Given the description of an element on the screen output the (x, y) to click on. 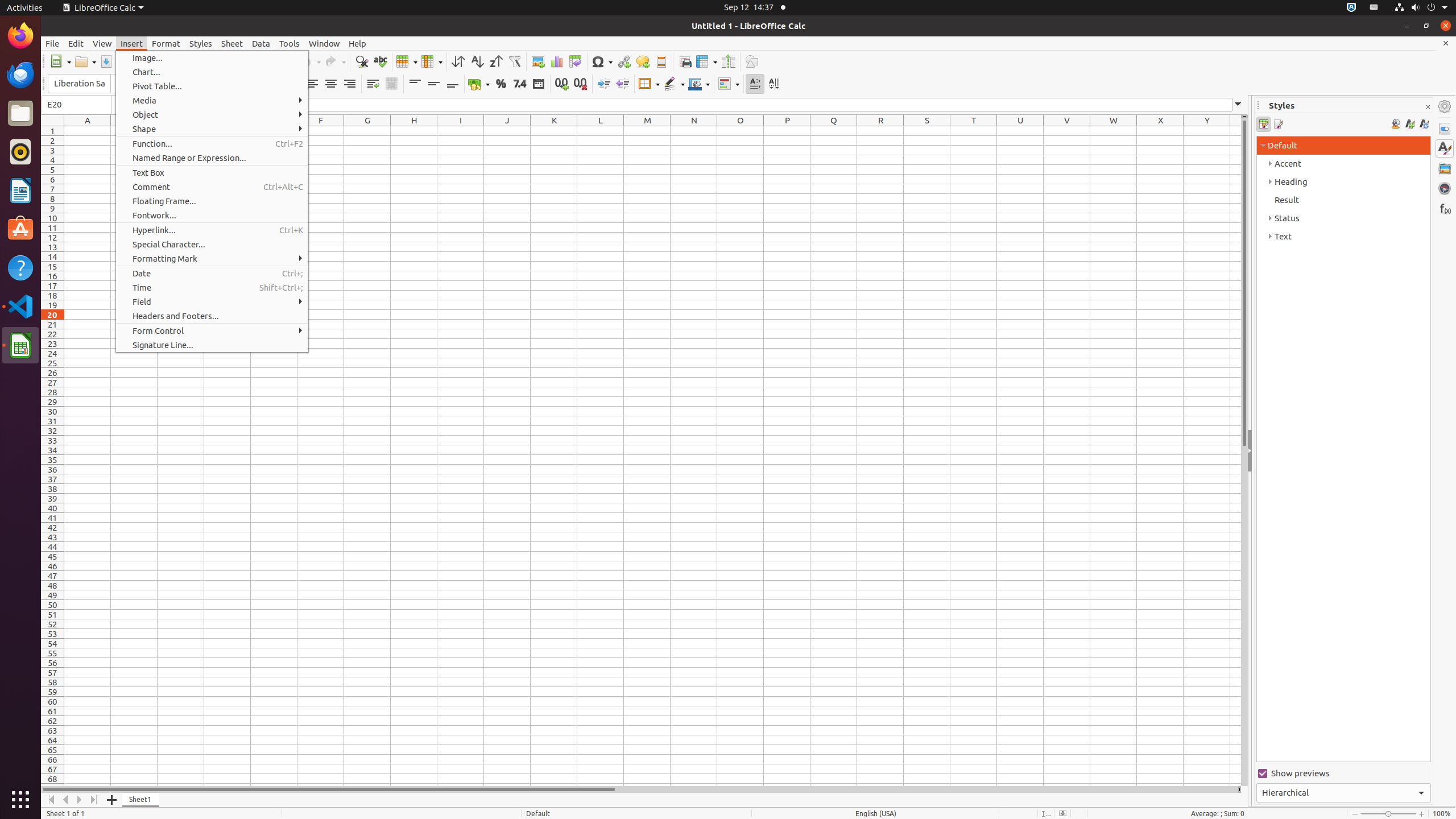
Z1 Element type: table-cell (1235, 130)
Column Element type: push-button (431, 61)
Functions Element type: radio-button (1444, 208)
Formatting Mark Element type: menu (212, 258)
Image... Element type: menu-item (212, 57)
